Given the description of an element on the screen output the (x, y) to click on. 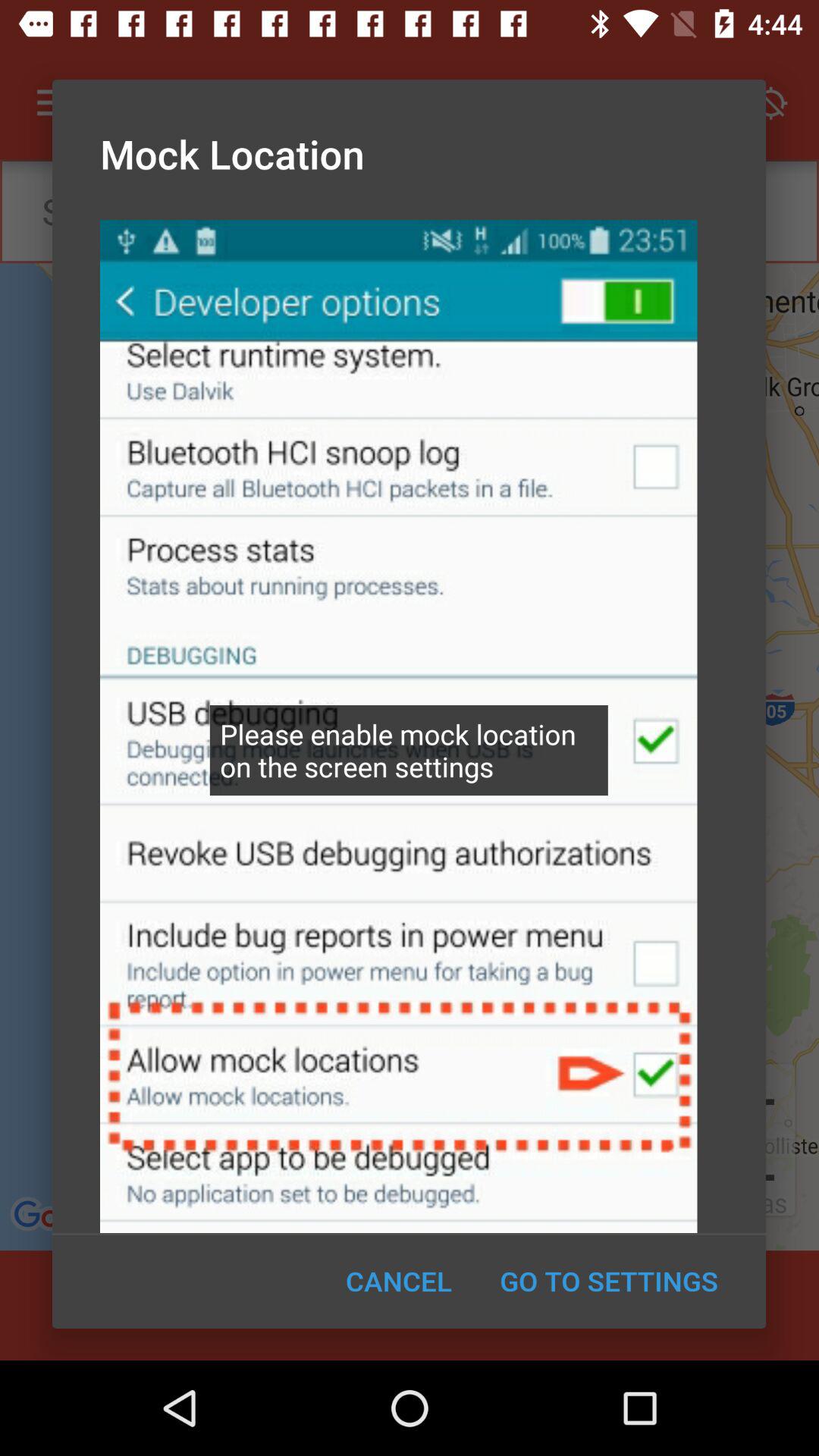
scroll to the go to settings icon (609, 1280)
